Given the description of an element on the screen output the (x, y) to click on. 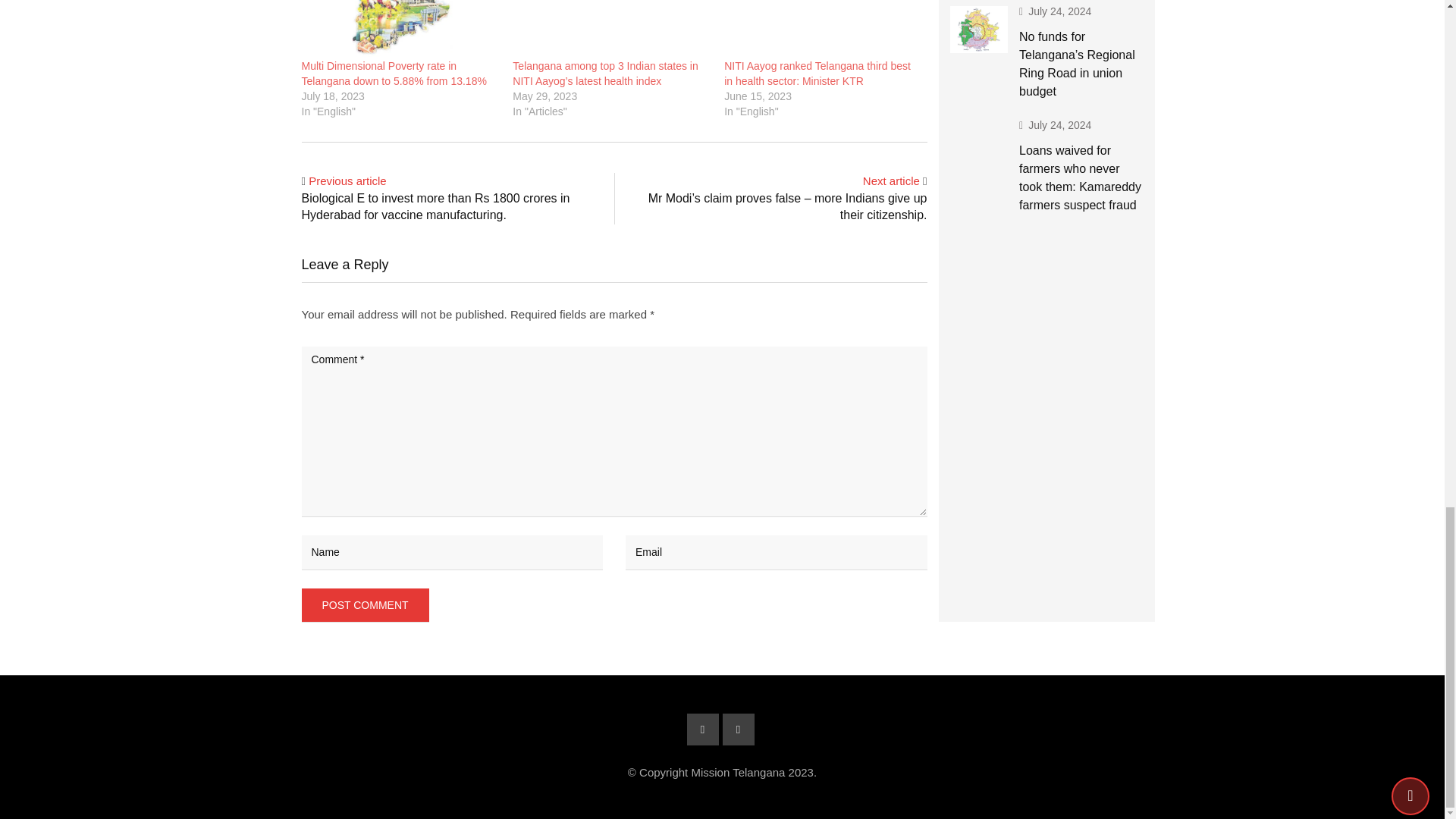
Post Comment (365, 604)
